Given the description of an element on the screen output the (x, y) to click on. 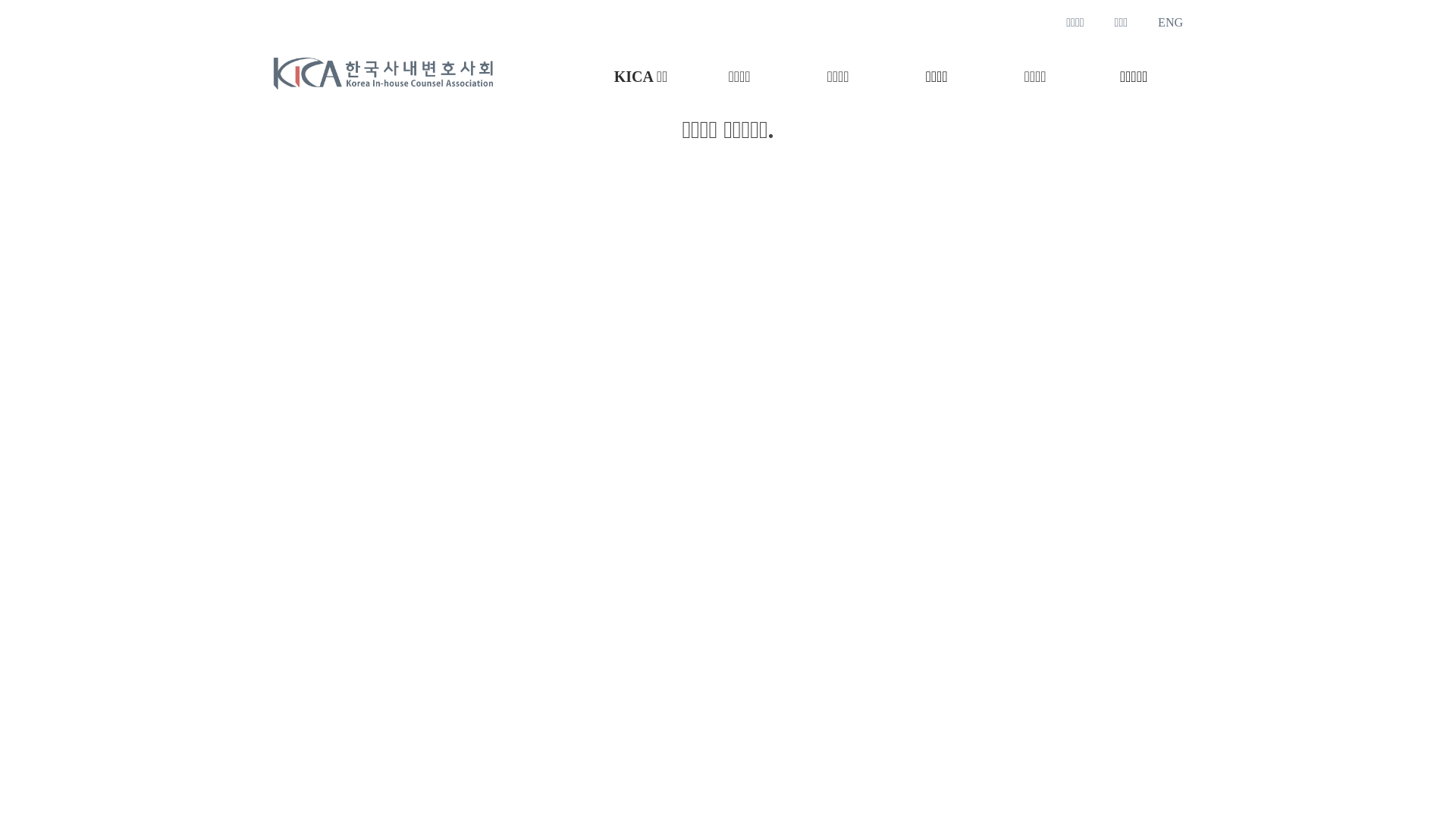
ENG Element type: text (1170, 22)
